Given the description of an element on the screen output the (x, y) to click on. 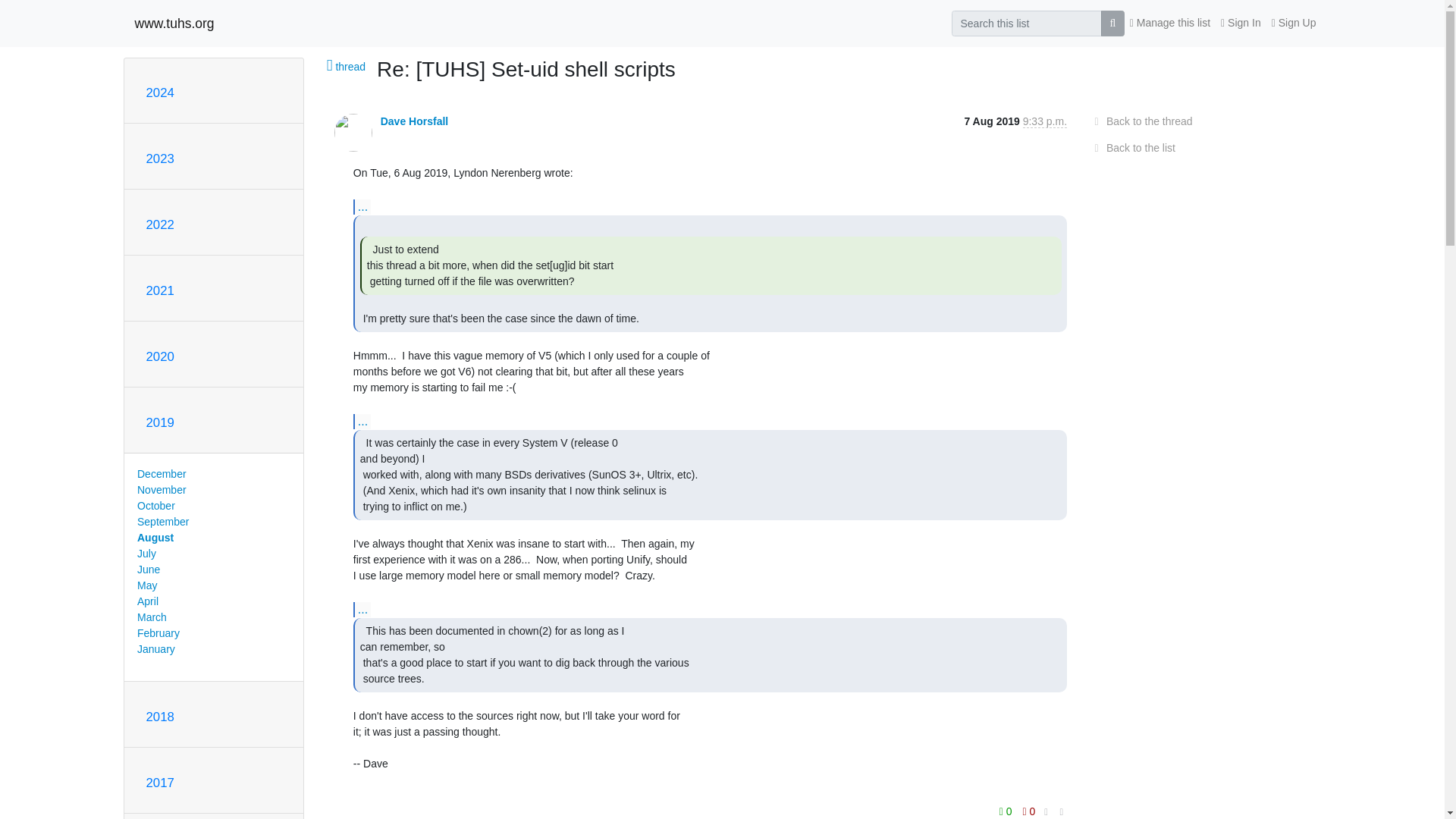
Sign Up (1294, 22)
2023 (159, 158)
You must be logged-in to vote. (1029, 810)
See the profile for Dave Horsfall (414, 121)
2022 (159, 224)
2024 (159, 92)
Sender's time: Aug. 8, 2019, 7:33 a.m. (1045, 121)
Sign in to reply online (359, 816)
www.tuhs.org (174, 22)
Sign In (1240, 22)
Manage this list (1169, 22)
You must be logged-in to vote. (1007, 810)
